Given the description of an element on the screen output the (x, y) to click on. 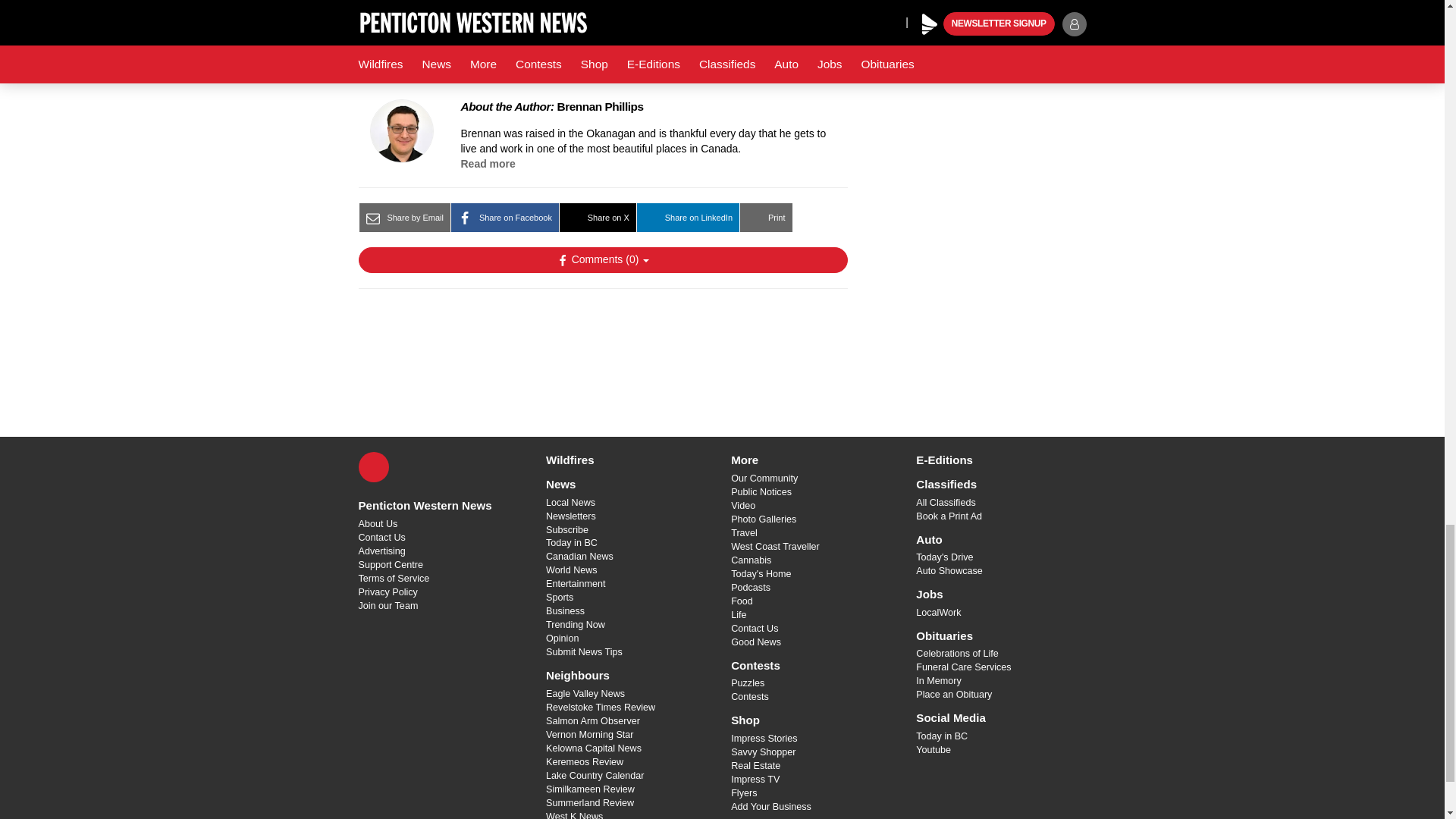
Show Comments (602, 259)
X (373, 467)
